Given the description of an element on the screen output the (x, y) to click on. 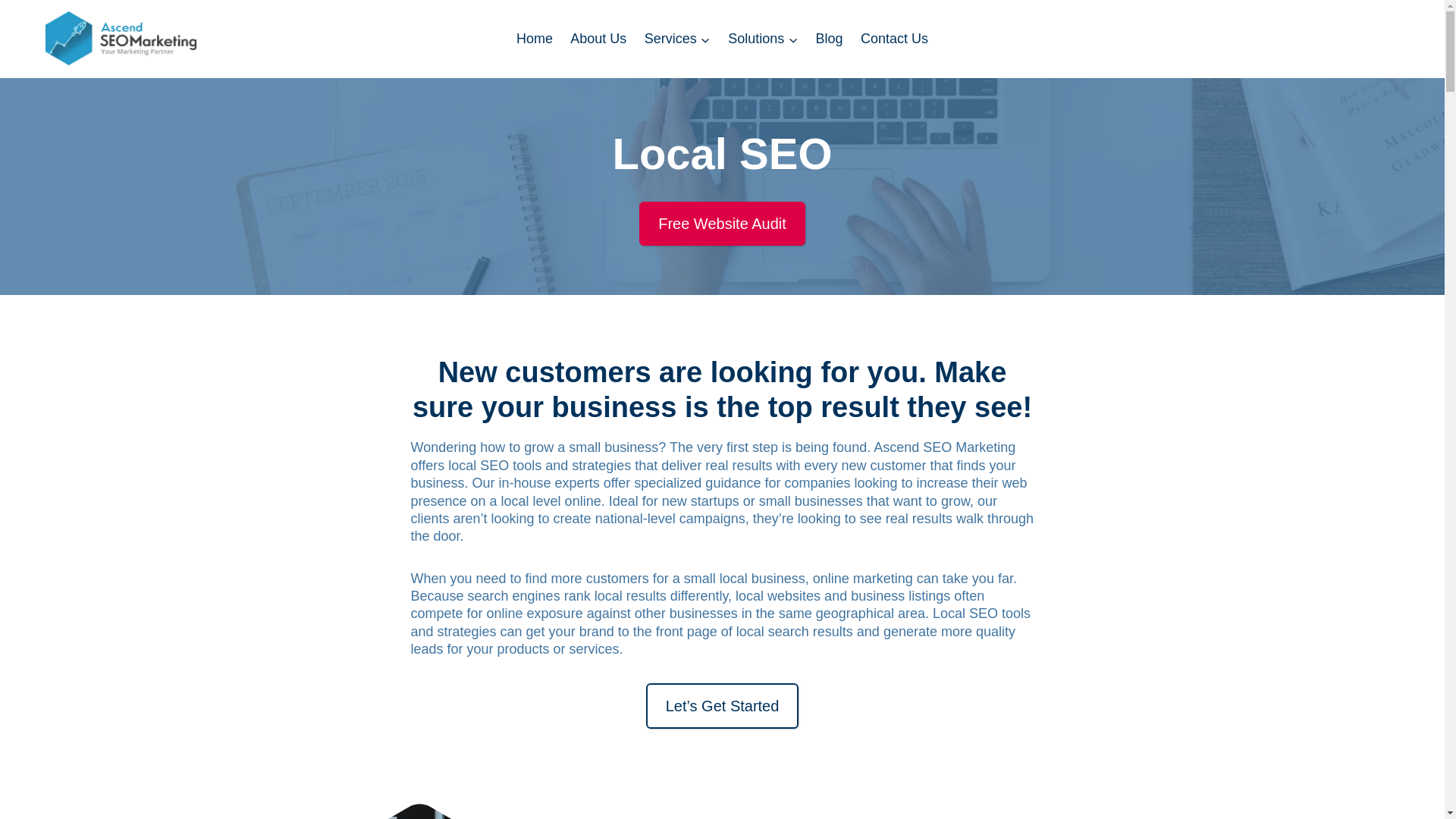
Services (676, 38)
About Us (598, 38)
Contact Us (893, 38)
Solutions (762, 38)
Free Website Audit (722, 223)
